Given the description of an element on the screen output the (x, y) to click on. 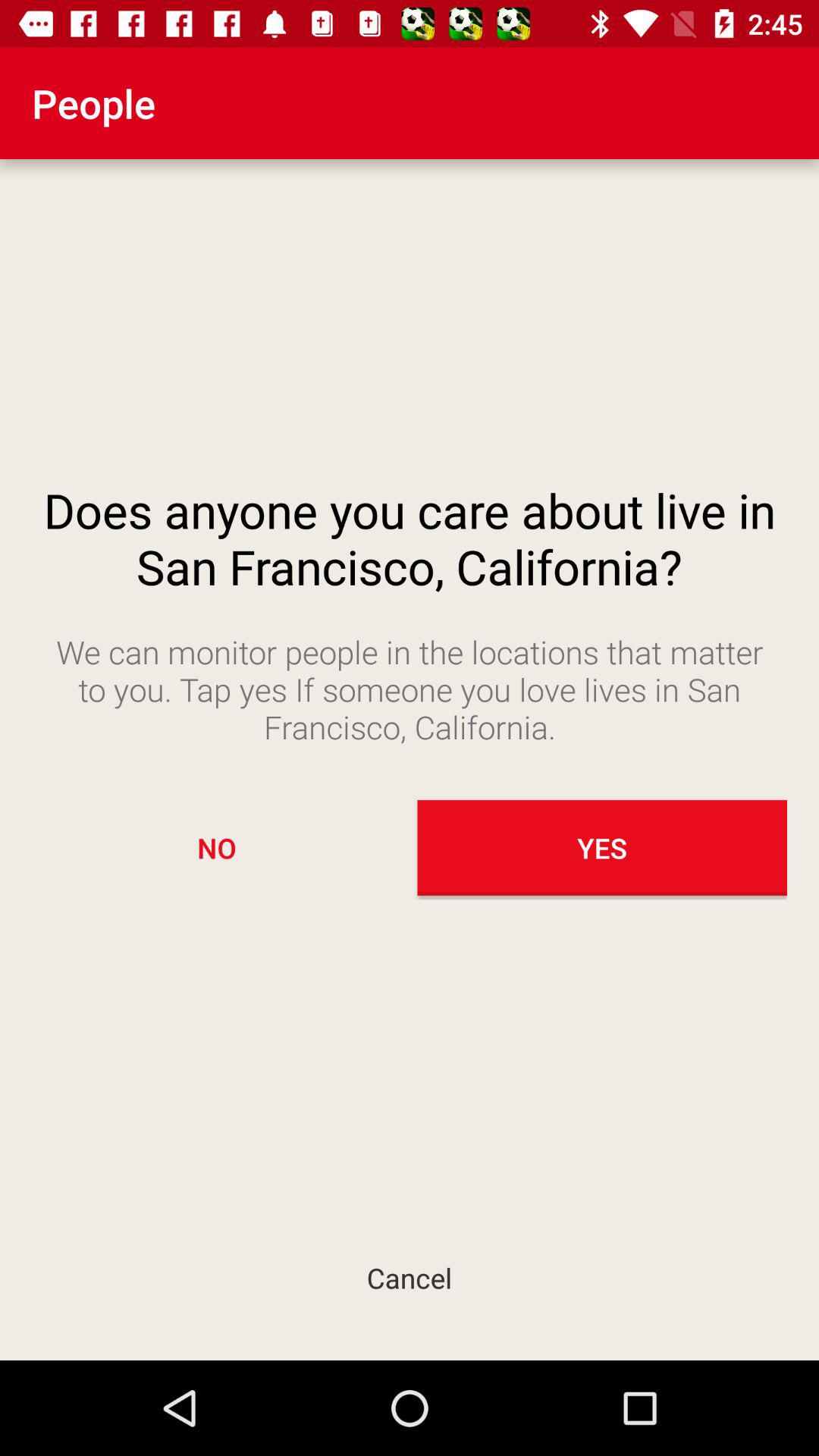
turn off the icon below the no (409, 1277)
